Given the description of an element on the screen output the (x, y) to click on. 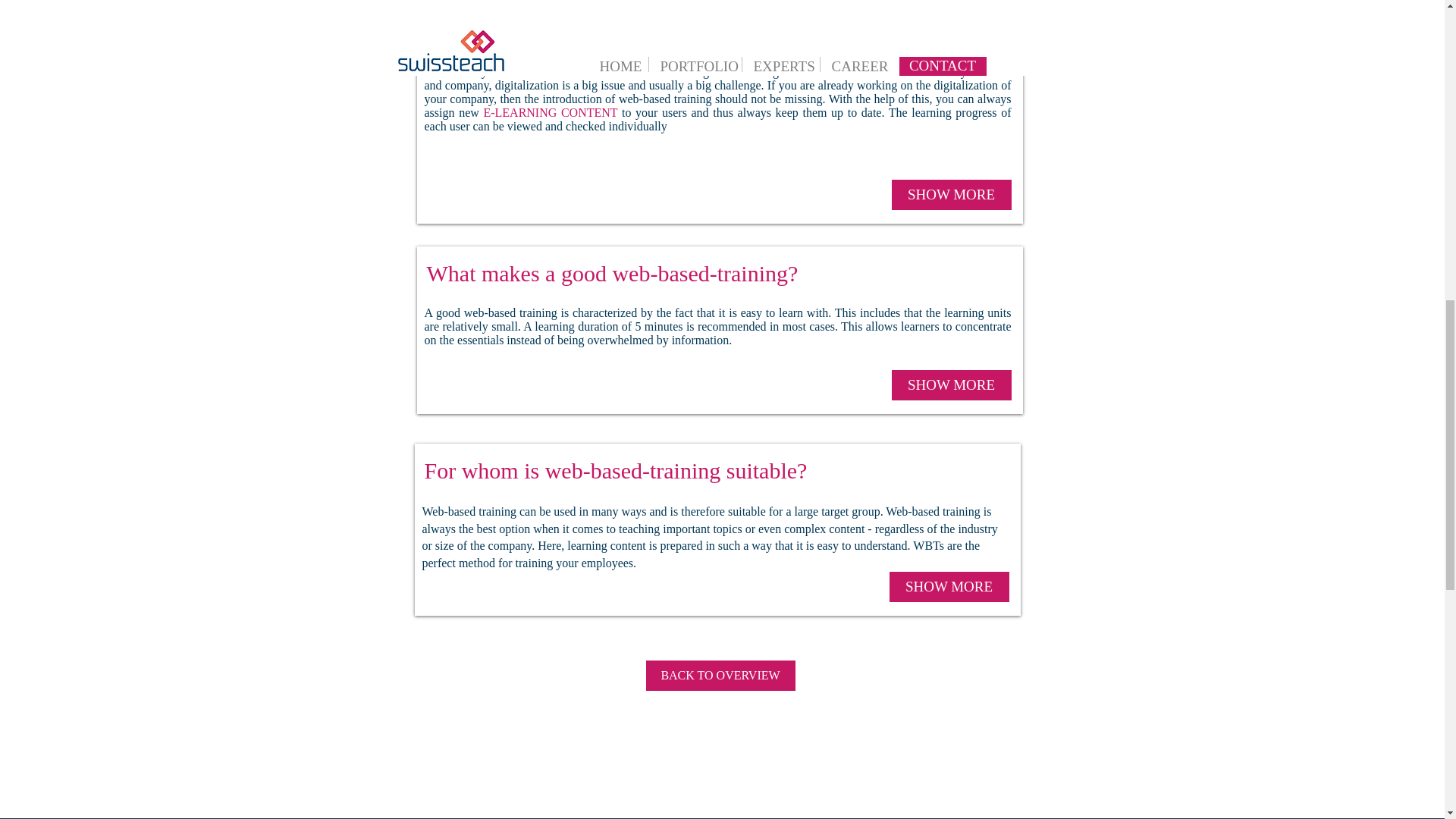
SHOW MORE (951, 385)
SHOW MORE (948, 586)
SHOW MORE (951, 194)
E-LEARNING CONTENT (550, 112)
BACK TO OVERVIEW (720, 675)
